Given the description of an element on the screen output the (x, y) to click on. 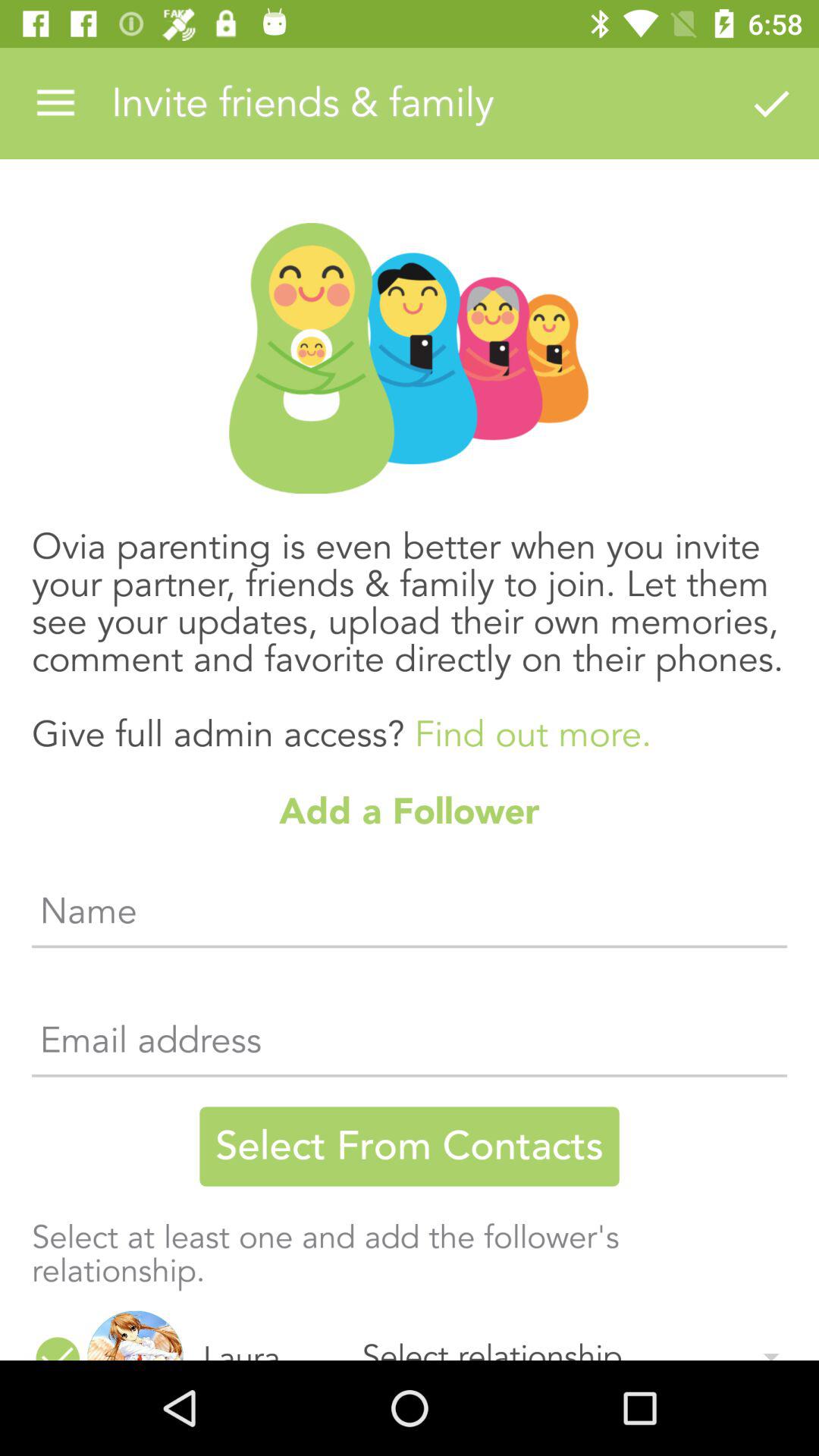
launch the select from contacts (409, 1146)
